Given the description of an element on the screen output the (x, y) to click on. 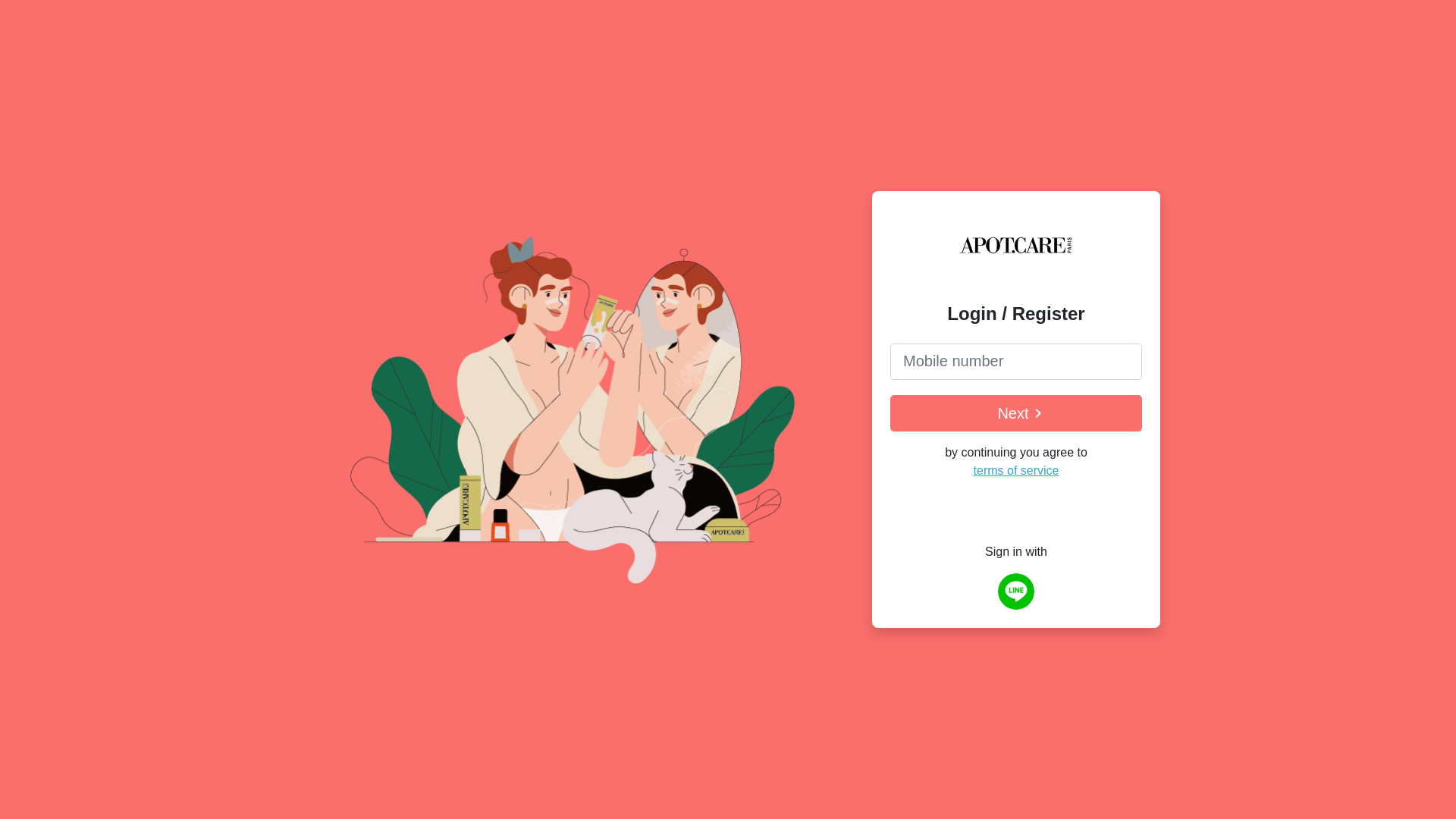
terms of service Element type: text (1016, 470)
Next
chevron_right Element type: text (1016, 413)
Line Element type: hover (1015, 591)
